Given the description of an element on the screen output the (x, y) to click on. 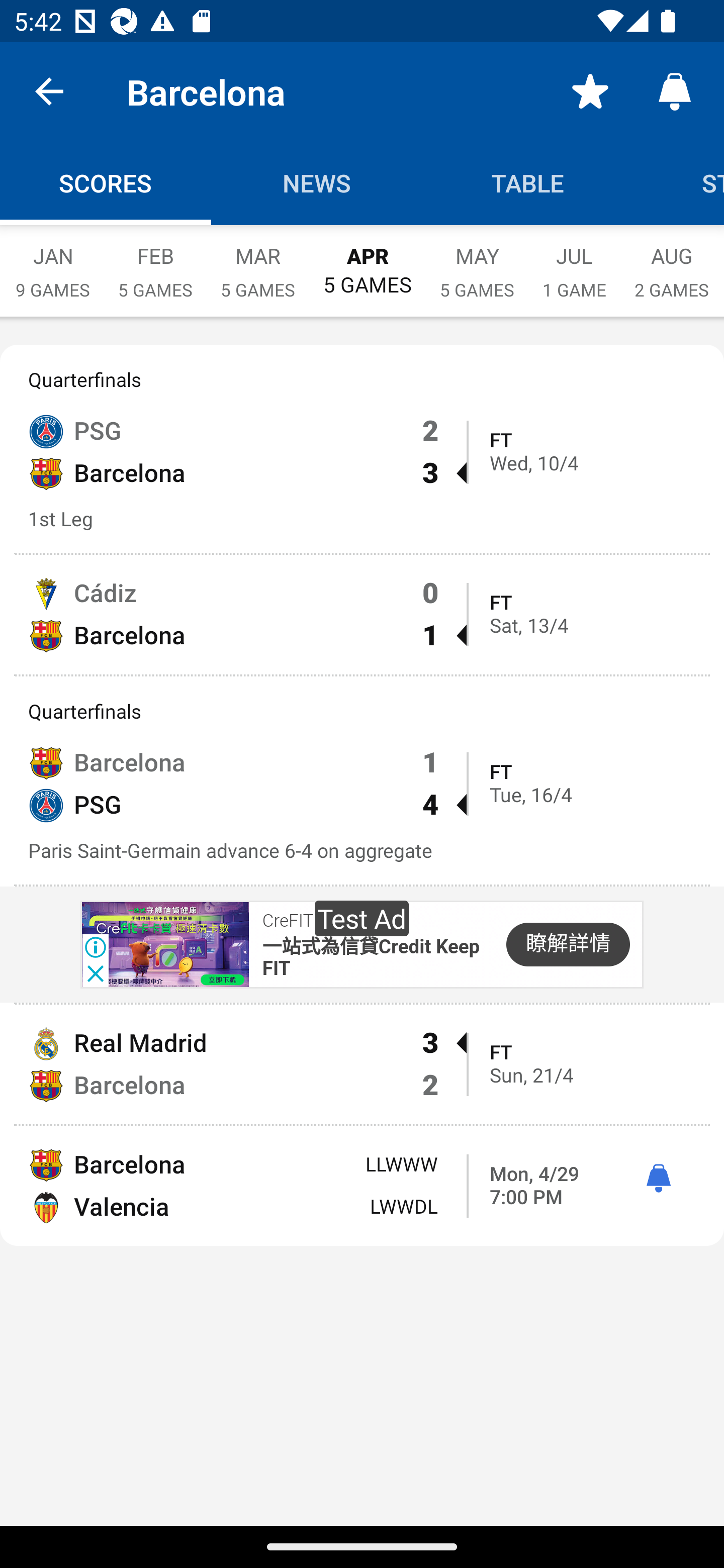
back.button (49, 90)
Favorite toggle (590, 90)
Alerts (674, 90)
News NEWS (316, 183)
Table TABLE (527, 183)
JAN 9 GAMES (52, 262)
FEB 5 GAMES (155, 262)
MAR 5 GAMES (257, 262)
APR 5 GAMES (367, 261)
MAY 5 GAMES (476, 262)
JUL 1 GAME (574, 262)
AUG 2 GAMES (671, 262)
Cádiz 0 Barcelona 1  FT Sat, 13/4 (362, 614)
details%3Fid%3Dcom.vhk (164, 944)
CreFIT 維信 (307, 920)
瞭解詳情 (567, 944)
一站式為信貸Credit Keep FIT 一站式為信貸Credit Keep FIT (371, 958)
Real Madrid 3  Barcelona 2 FT Sun, 21/4 (362, 1064)
Barcelona LLWWW Valencia LWWDL Mon, 4/29 7:00 PM ì (362, 1185)
ì (658, 1178)
